Given the description of an element on the screen output the (x, y) to click on. 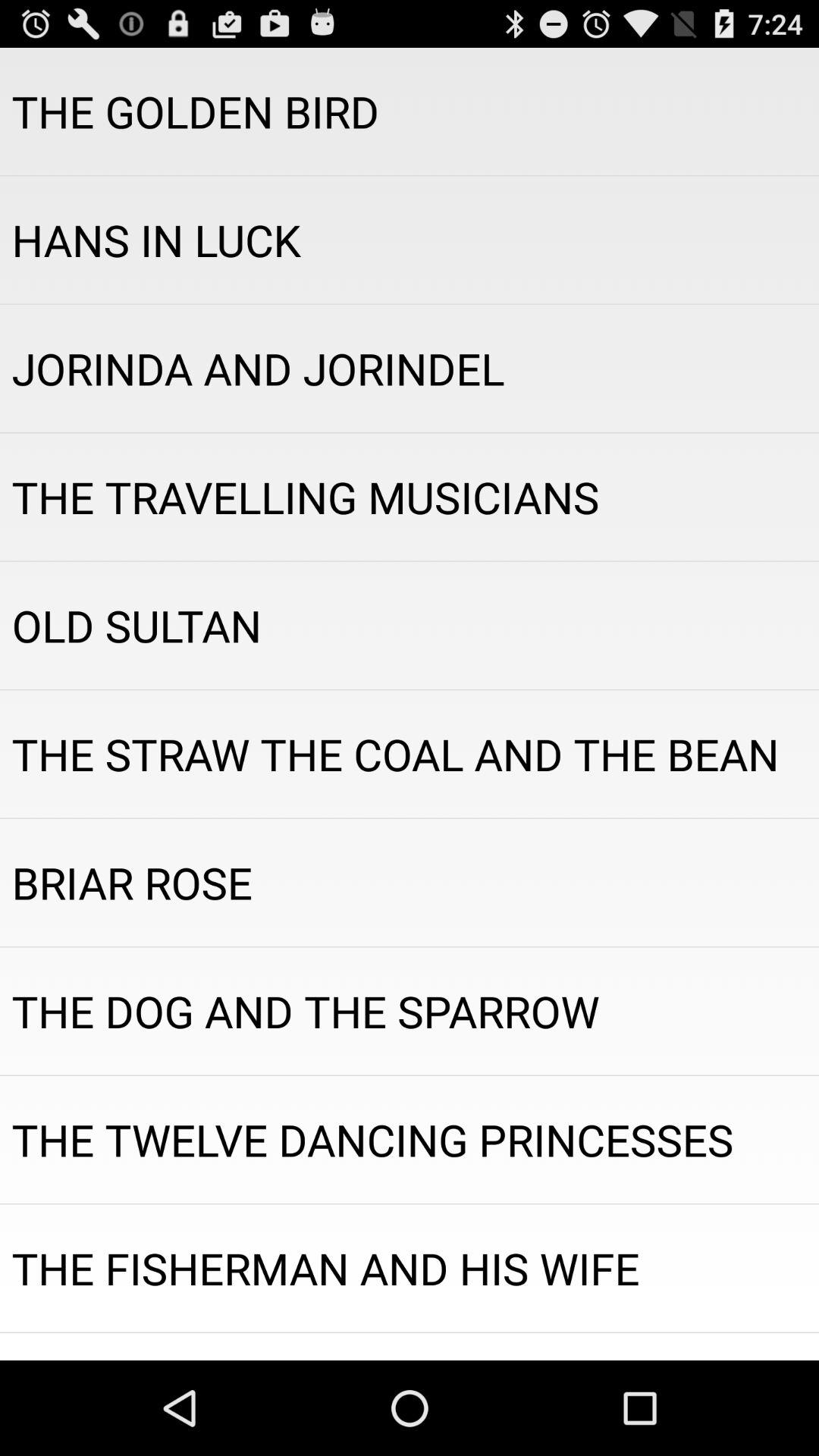
turn on hans in luck item (409, 239)
